Given the description of an element on the screen output the (x, y) to click on. 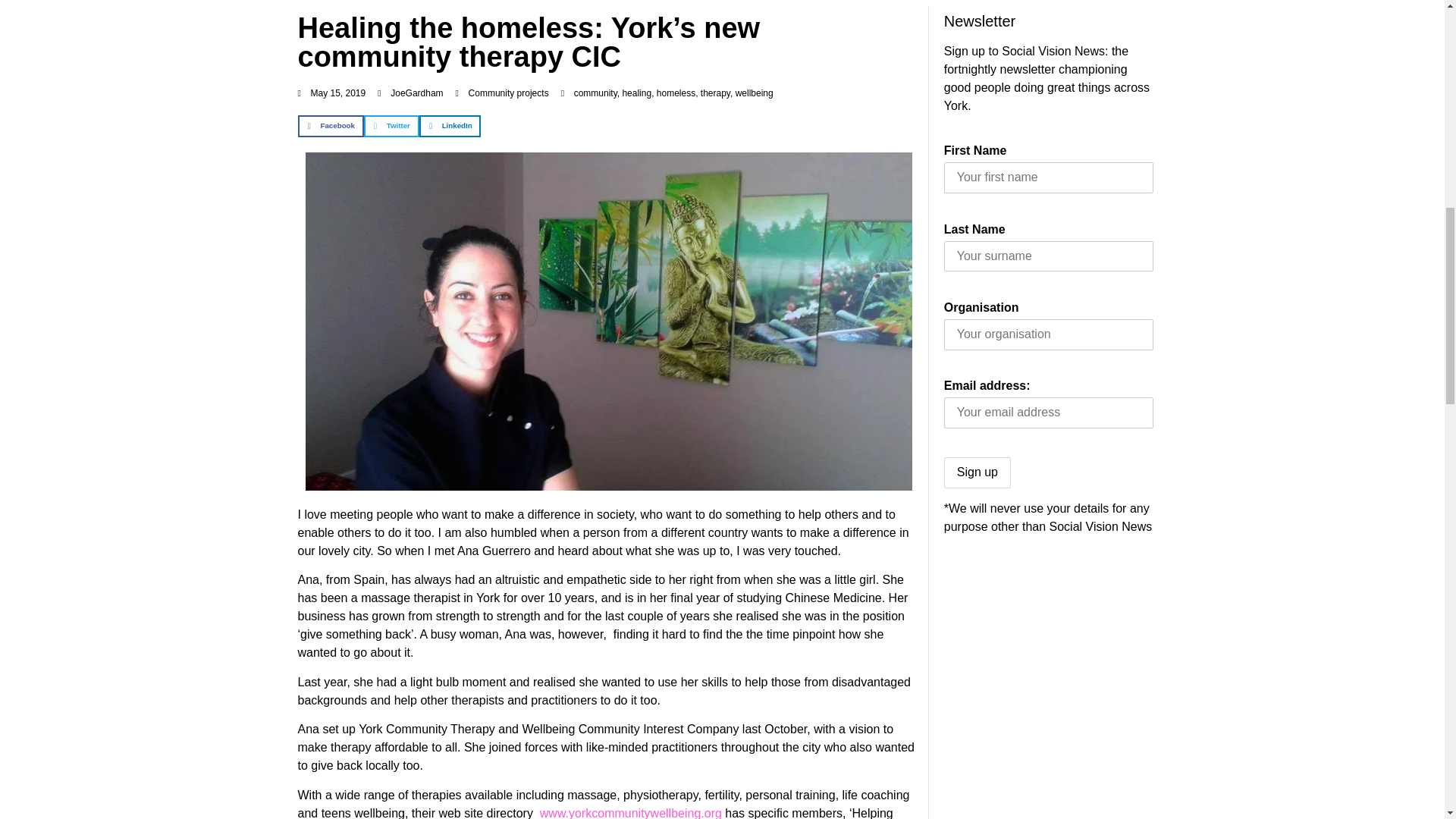
therapy (715, 92)
community (595, 92)
wellbeing (754, 92)
healing (635, 92)
homeless (675, 92)
Sign up (976, 472)
www.yorkcommunitywellbeing.org (631, 812)
Sign up (976, 472)
Community projects (508, 92)
JoeGardham (409, 92)
May 15, 2019 (331, 92)
